Given the description of an element on the screen output the (x, y) to click on. 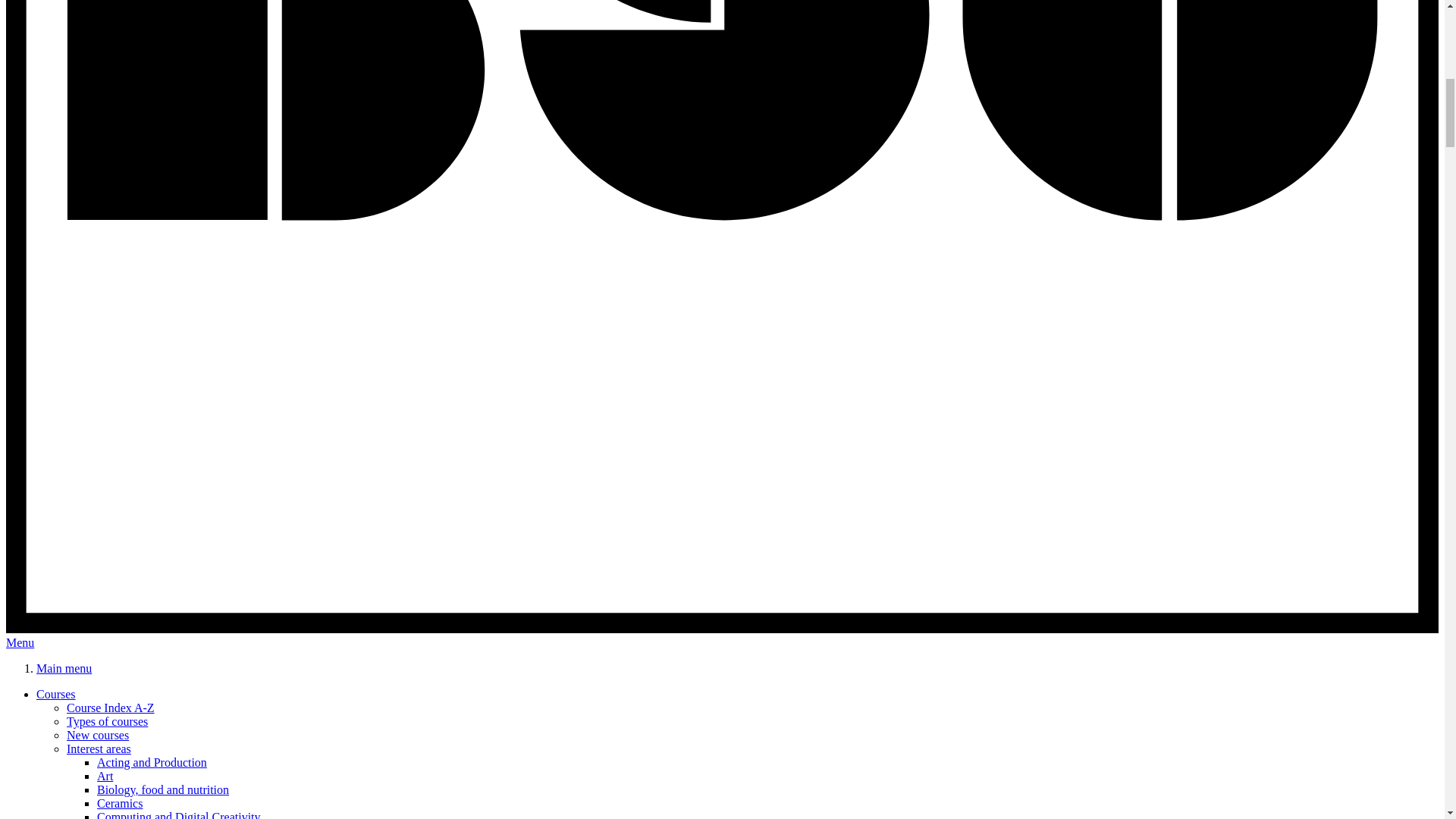
Menu (19, 642)
Course Index A-Z (110, 707)
Biology, food and nutrition (162, 789)
Interest areas (98, 748)
Types of courses (107, 721)
Art (105, 775)
Main menu (63, 667)
Courses (55, 694)
Ceramics (119, 802)
Acting and Production (151, 762)
New courses (97, 735)
Computing and Digital Creativity (178, 814)
